Given the description of an element on the screen output the (x, y) to click on. 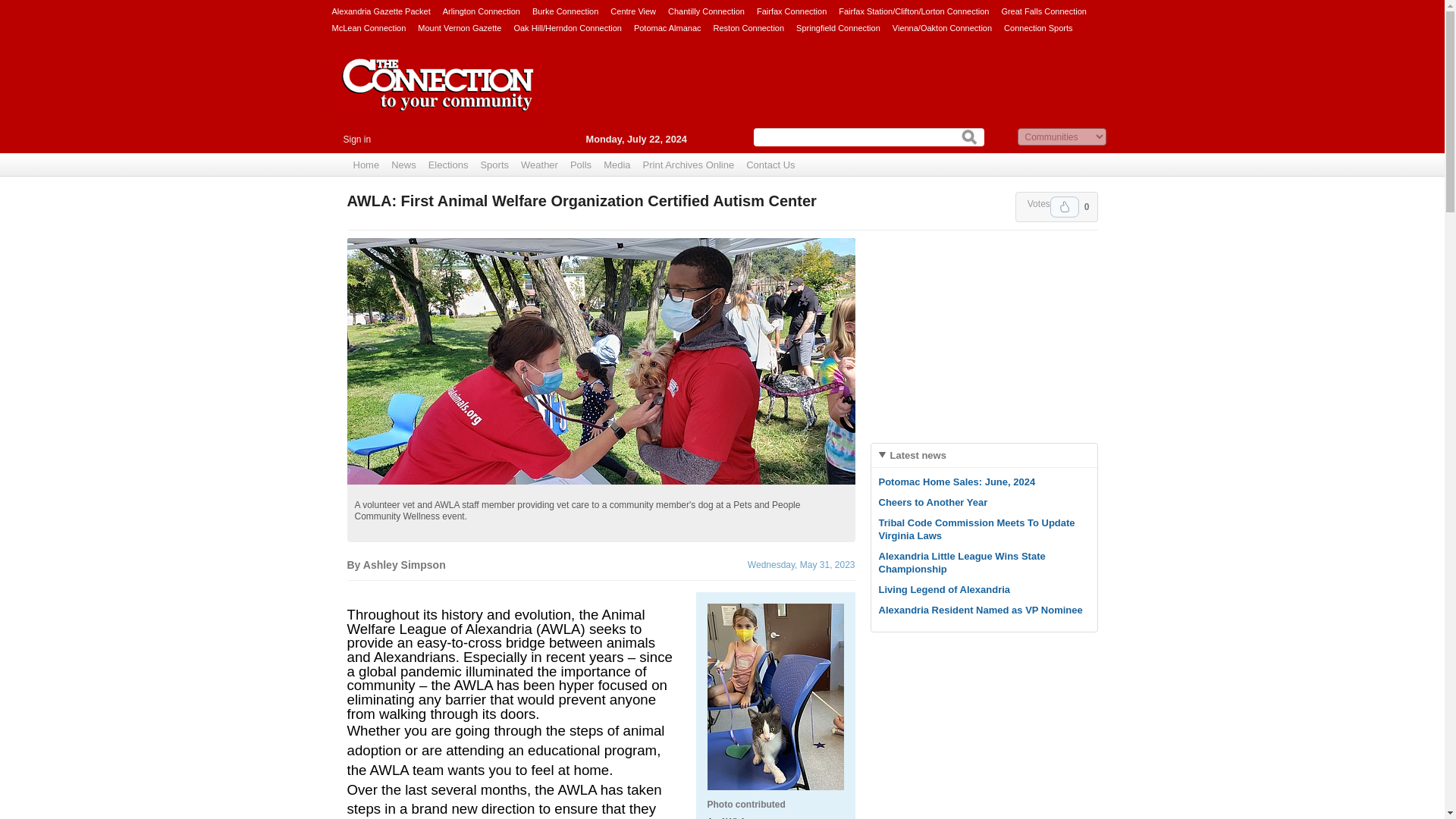
Great Falls Connection (1043, 11)
Centre View (633, 11)
McLean Connection (368, 27)
Springfield Connection (838, 27)
Arlington Connection (480, 11)
Mount Vernon Gazette (458, 27)
Home (366, 164)
The Connection (437, 96)
Chantilly Connection (706, 11)
Alexandria Gazette Packet (380, 11)
Sign in (356, 139)
Elections (448, 164)
Fairfax Connection (792, 11)
Reston Connection (748, 27)
Potomac Almanac (667, 27)
